Given the description of an element on the screen output the (x, y) to click on. 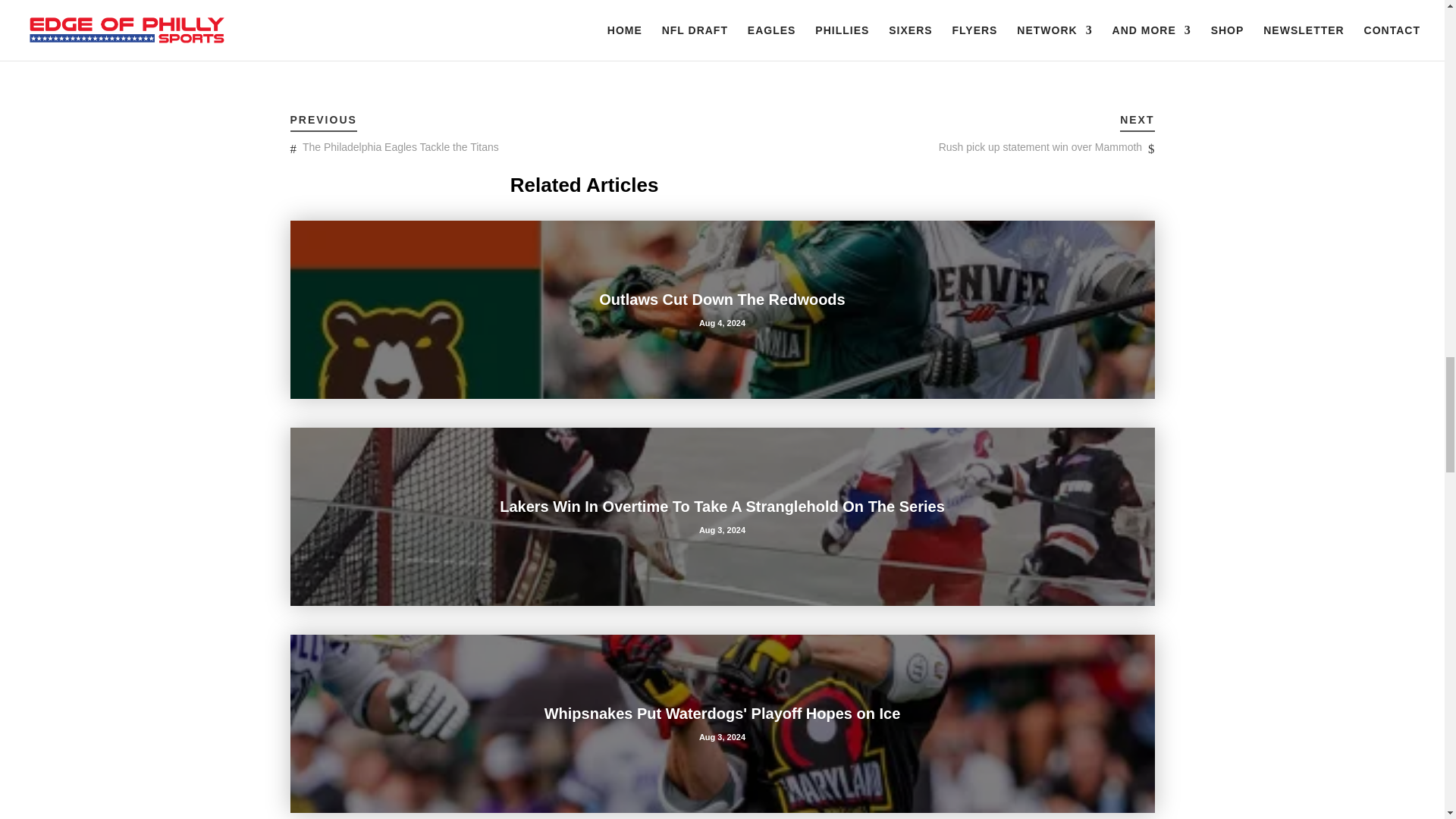
Click to share on Twitter (301, 37)
Click to share on Facebook (331, 37)
Click to share on LinkedIn (362, 37)
Click to share on Reddit (392, 37)
